Given the description of an element on the screen output the (x, y) to click on. 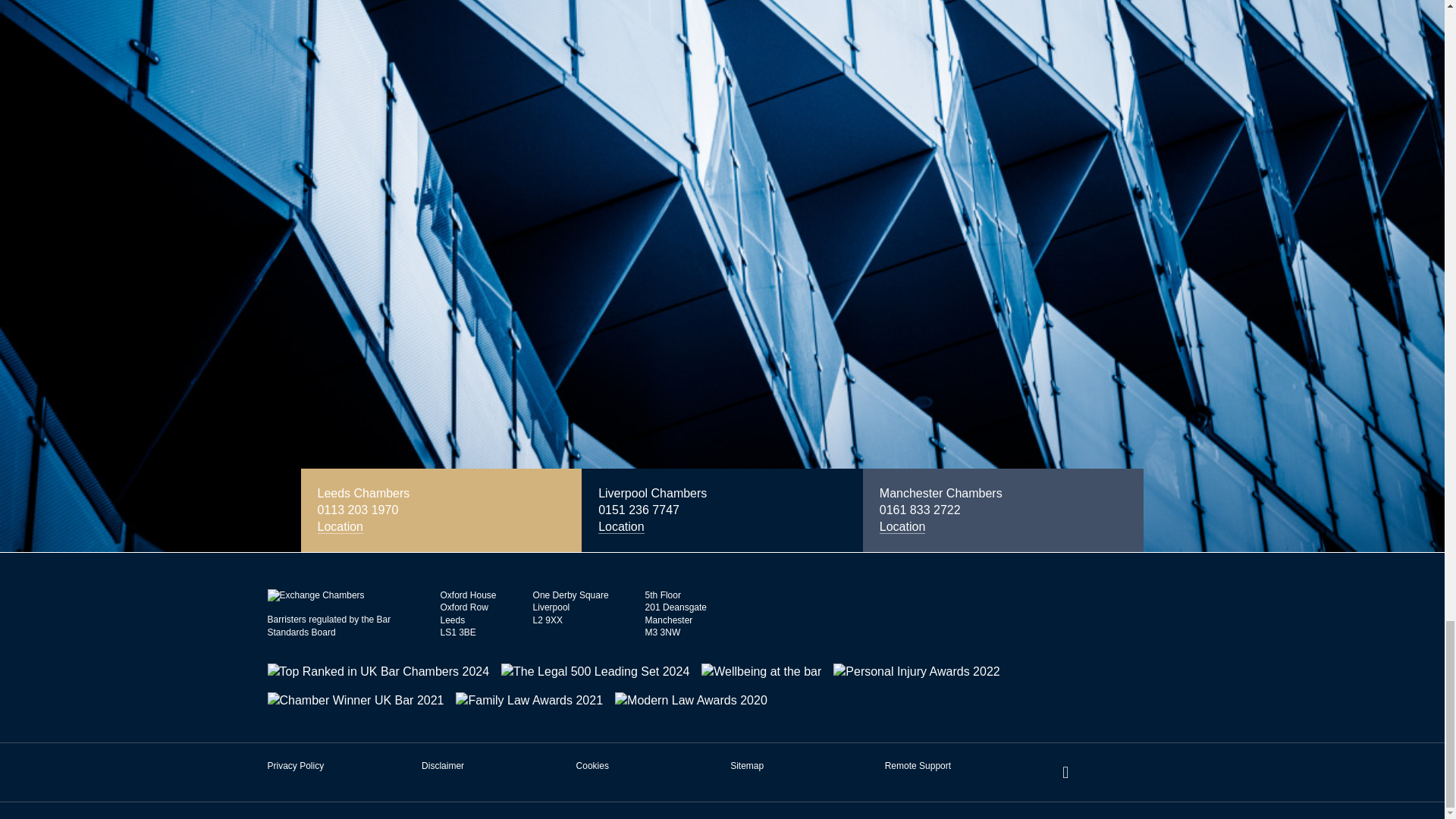
Disclaimer (443, 765)
Cookies (592, 765)
Sitemap (746, 765)
Privacy Policy (294, 765)
Remote Support (917, 765)
